Given the description of an element on the screen output the (x, y) to click on. 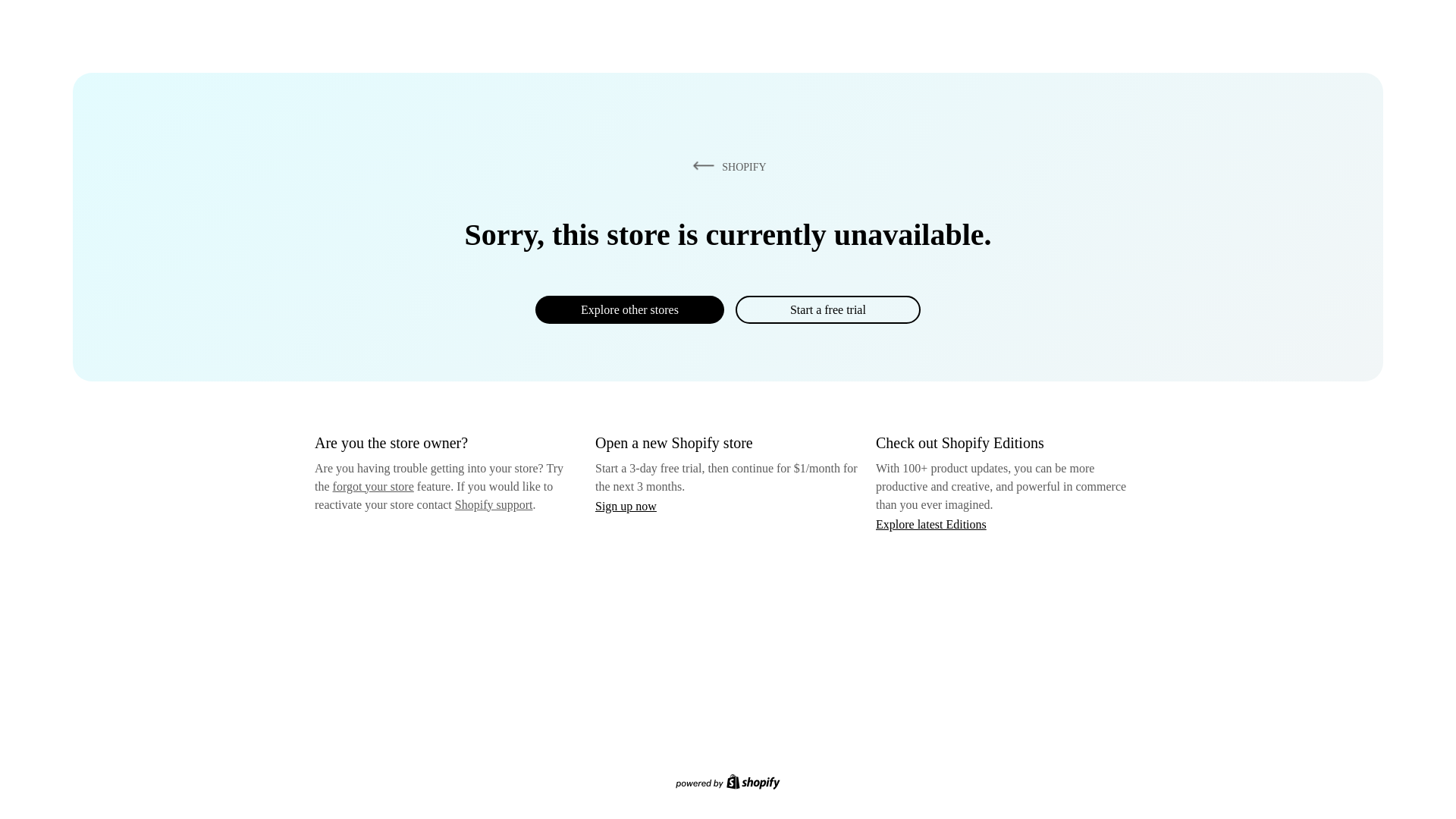
Explore latest Editions (931, 523)
Start a free trial (827, 309)
forgot your store (373, 486)
Explore other stores (629, 309)
Shopify support (493, 504)
SHOPIFY (726, 166)
Sign up now (625, 505)
